Given the description of an element on the screen output the (x, y) to click on. 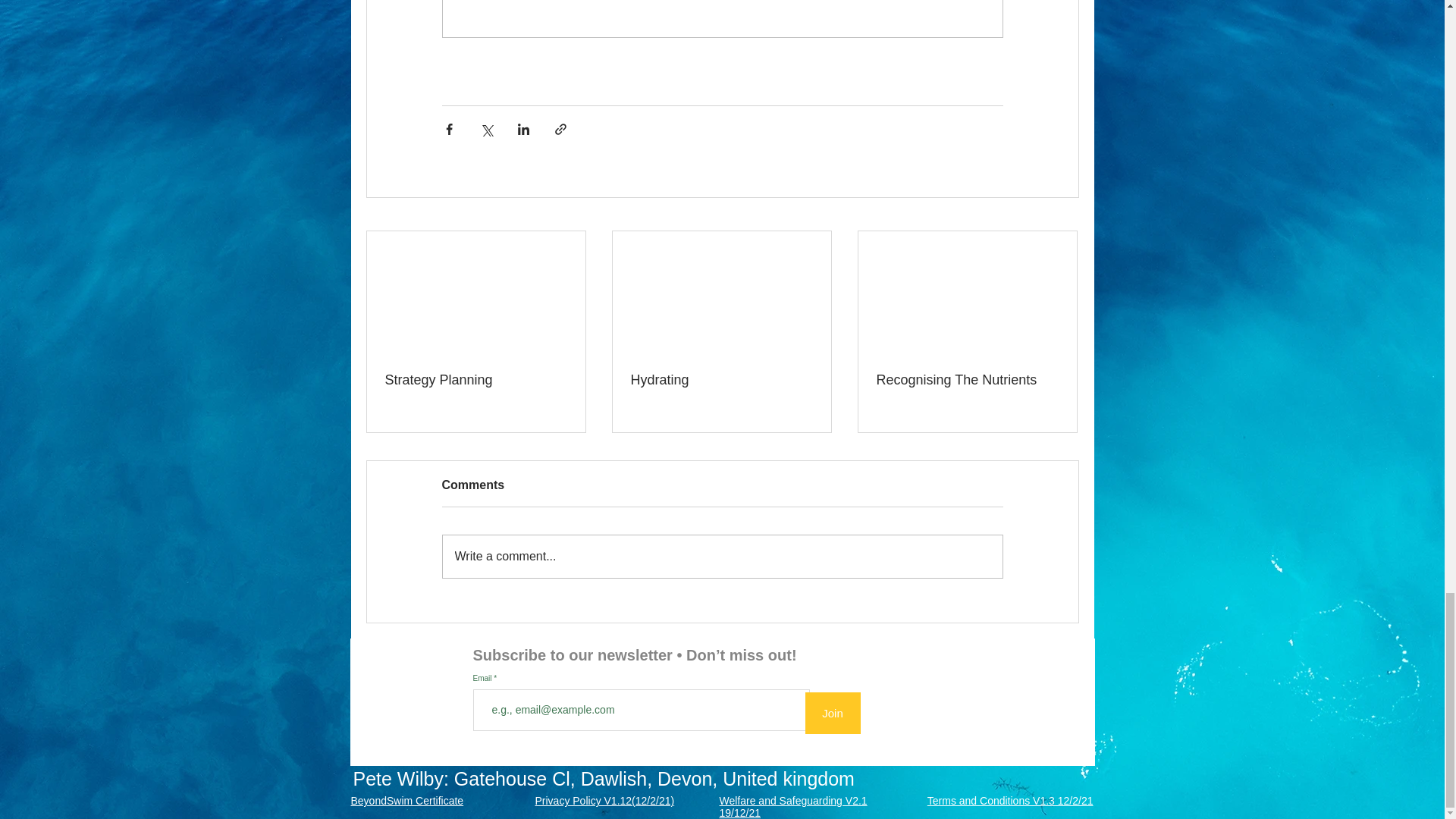
Recognising The Nutrients (967, 380)
Hydrating (721, 380)
Strategy Planning (476, 380)
Write a comment... (722, 556)
